Given the description of an element on the screen output the (x, y) to click on. 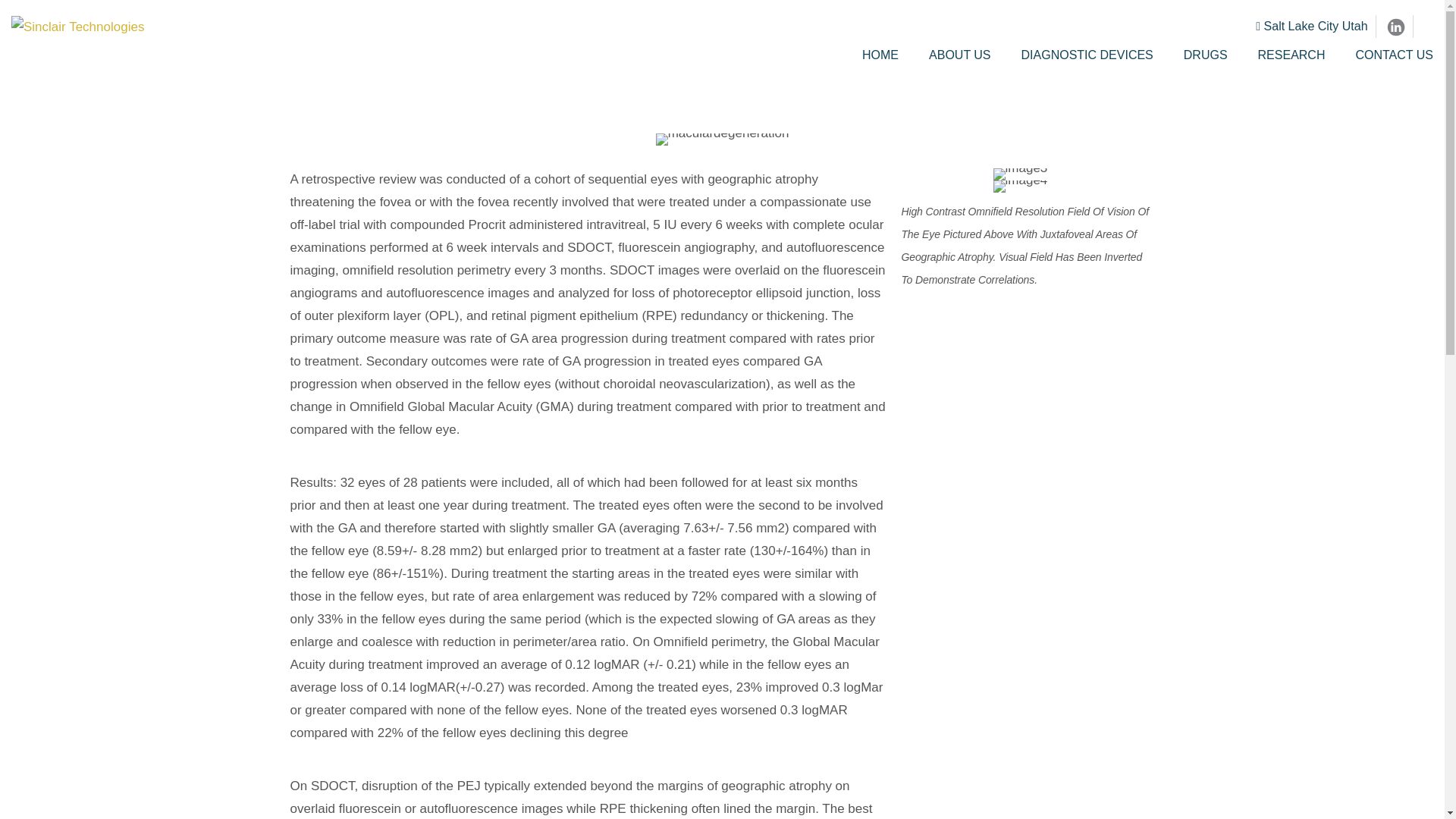
image3 (1020, 174)
maculardegeneration (722, 139)
Salt Lake City Utah (1311, 25)
DRUGS (1206, 54)
CONTACT US (1385, 54)
RESEARCH (1291, 54)
ABOUT US (960, 54)
image4 (1020, 186)
HOME (887, 54)
DIAGNOSTIC DEVICES (1087, 54)
